Given the description of an element on the screen output the (x, y) to click on. 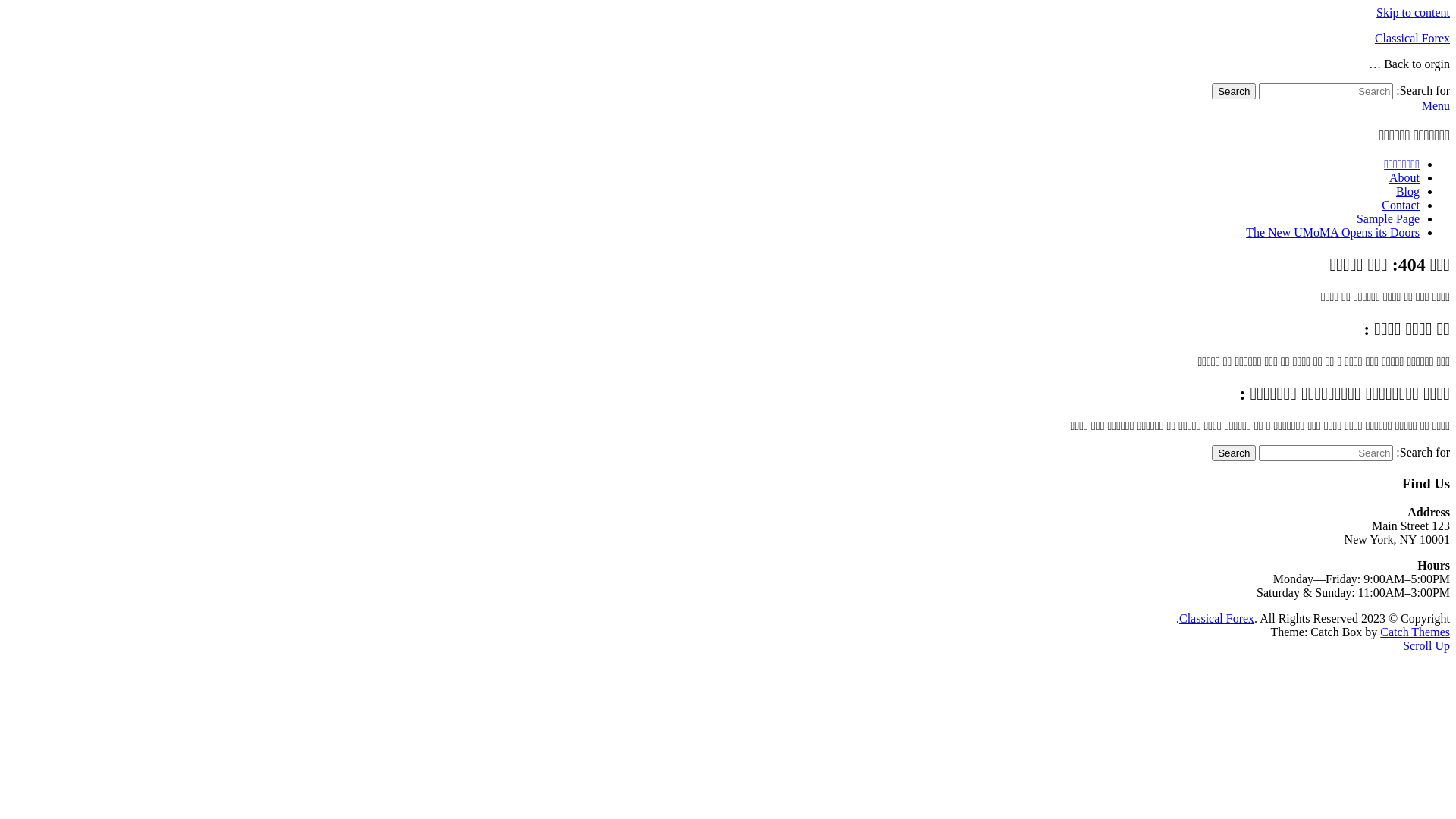
Blog Element type: text (1407, 191)
Contact Element type: text (1400, 204)
Search for: Element type: hover (1325, 91)
The New UMoMA Opens its Doors Element type: text (1332, 231)
Sample Page Element type: text (1387, 218)
Search Element type: text (1233, 453)
Classical Forex Element type: text (1216, 617)
Classical Forex Element type: text (1411, 37)
Skip to content Element type: text (1412, 12)
Scroll Up Element type: text (1425, 645)
Menu Element type: text (1435, 105)
About Element type: text (1404, 177)
Search Element type: text (1233, 91)
Catch Themes Element type: text (1414, 631)
Search for: Element type: hover (1325, 453)
